Given the description of an element on the screen output the (x, y) to click on. 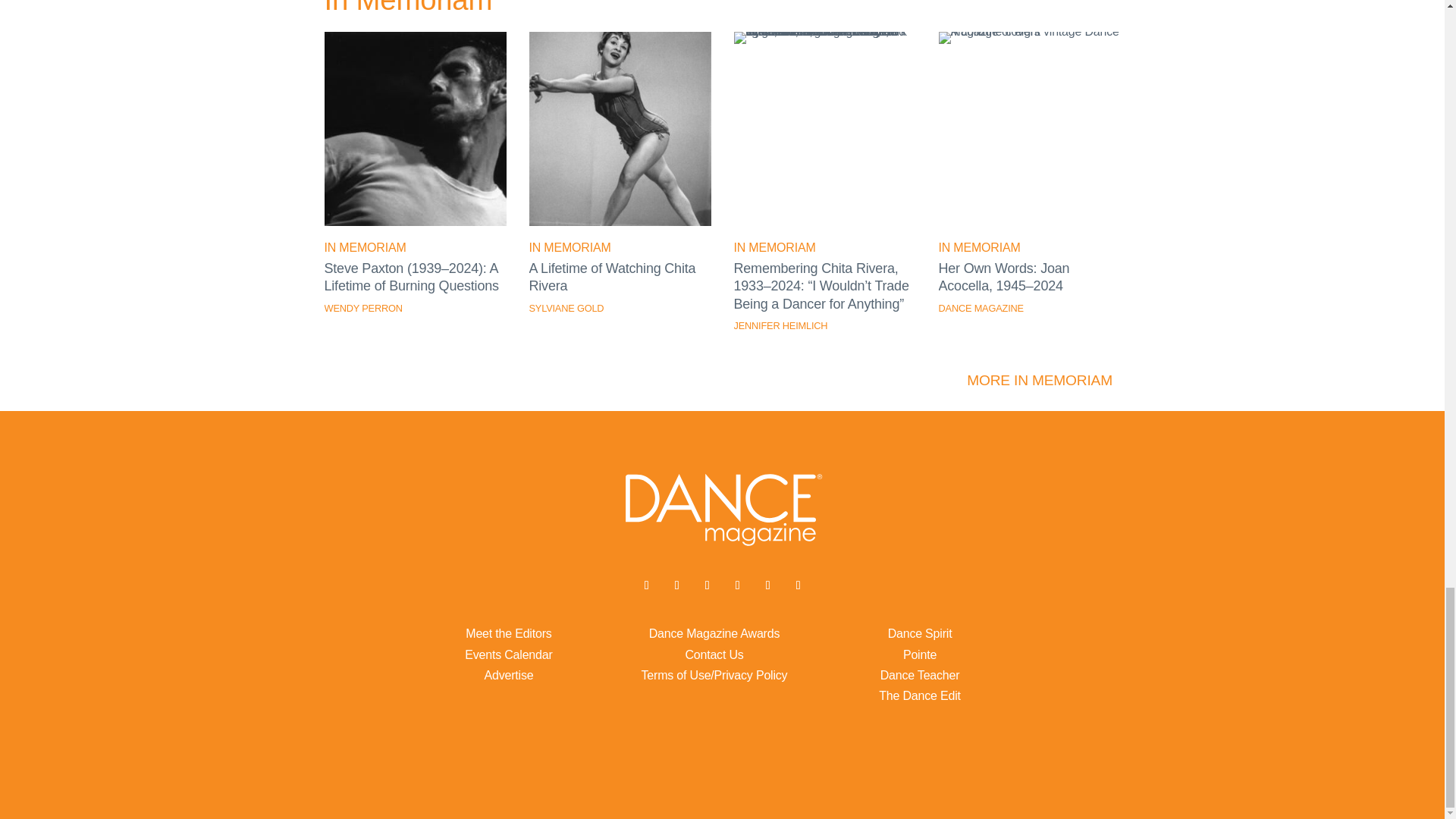
Follow on Pinterest (797, 585)
Follow on Instagram (706, 585)
Follow on Twitter (675, 585)
Follow on Facebook (645, 585)
Follow on LinkedIn (766, 585)
Follow on Youtube (737, 585)
A Lifetime of Watching Chita Rivera (620, 221)
